Given the description of an element on the screen output the (x, y) to click on. 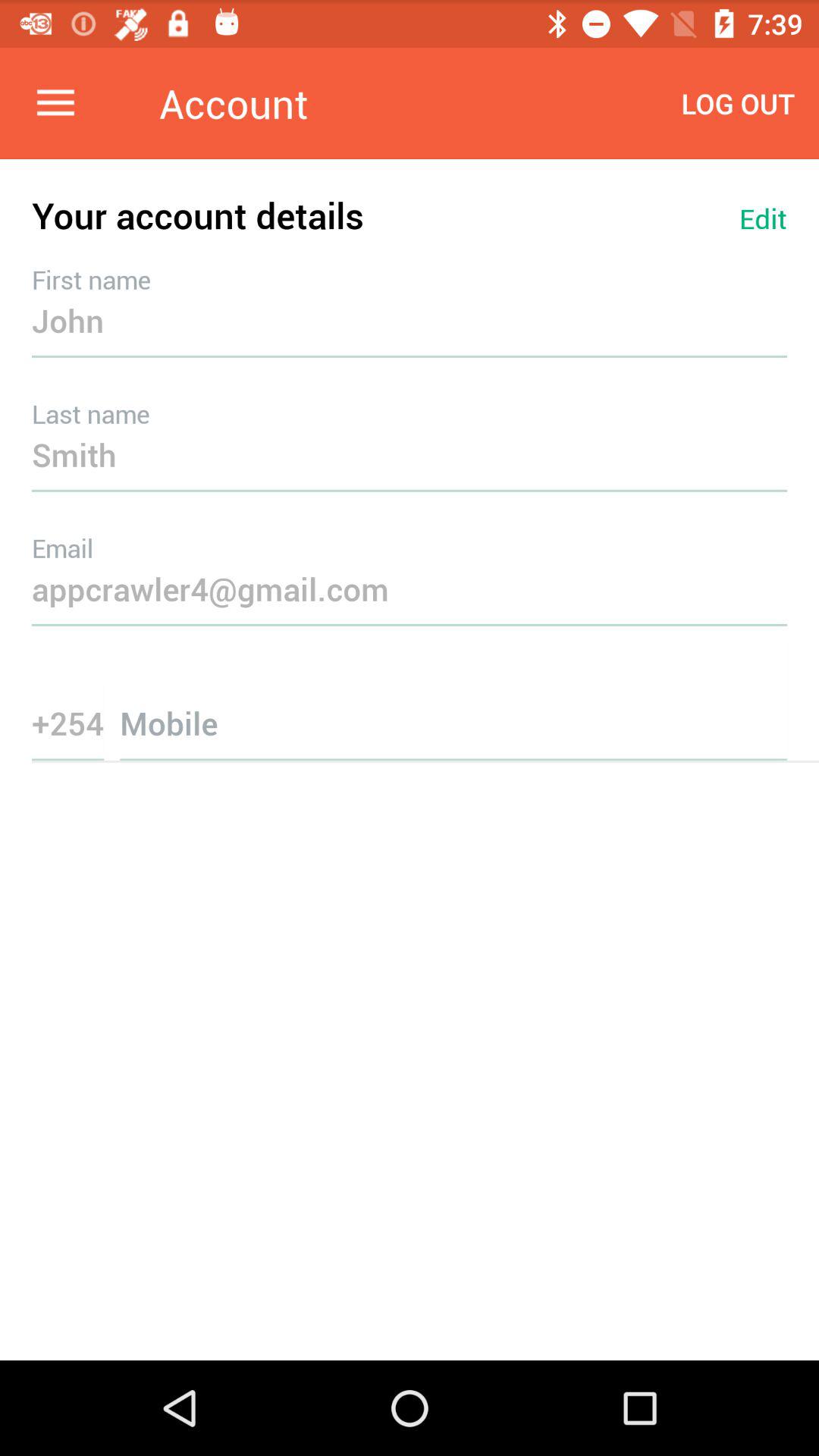
launch icon next to the account (738, 103)
